Given the description of an element on the screen output the (x, y) to click on. 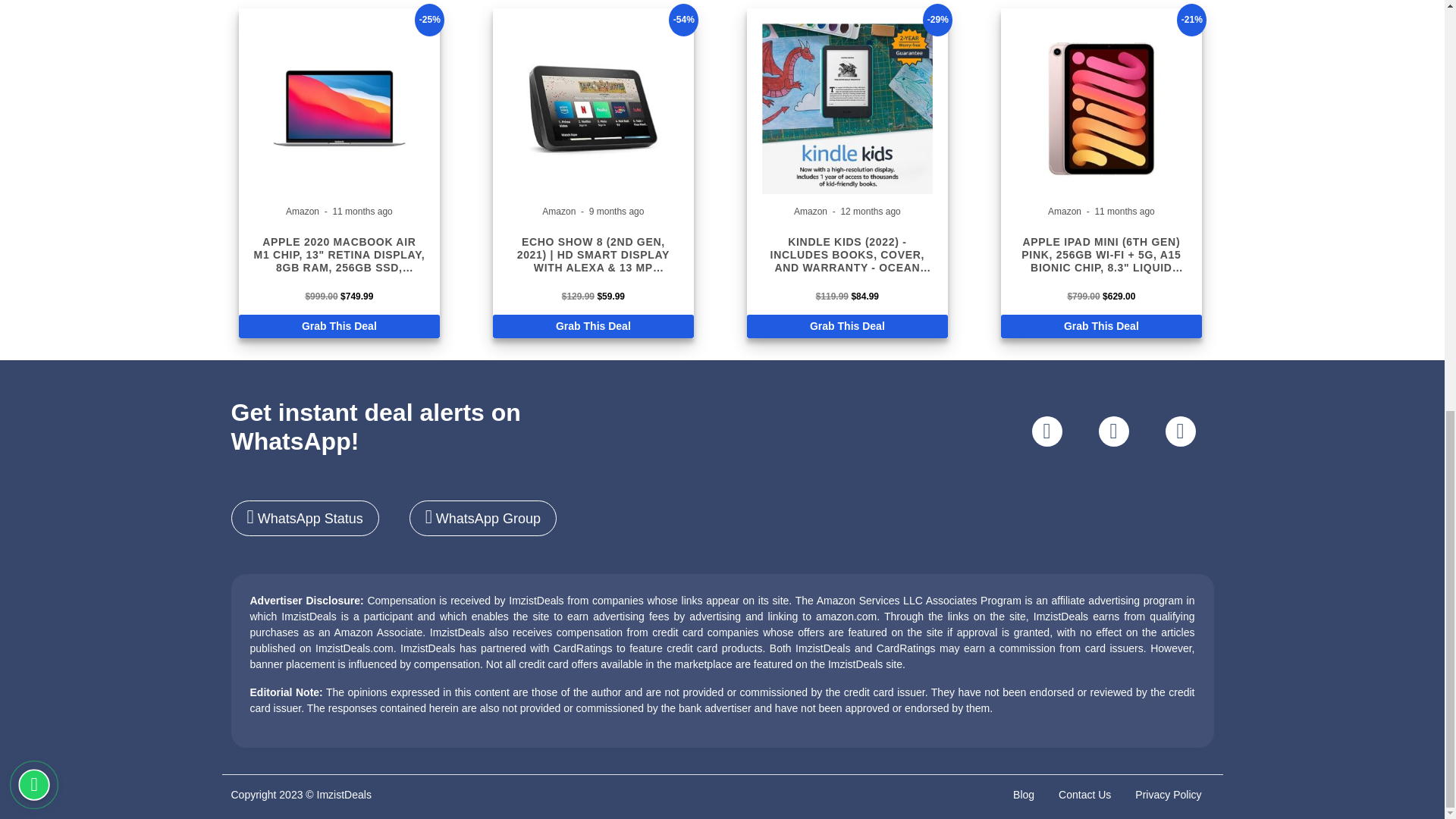
Follow on Twitter (1112, 431)
Follow on Instagram (1045, 431)
Follow on Telegram (1179, 431)
